Given the description of an element on the screen output the (x, y) to click on. 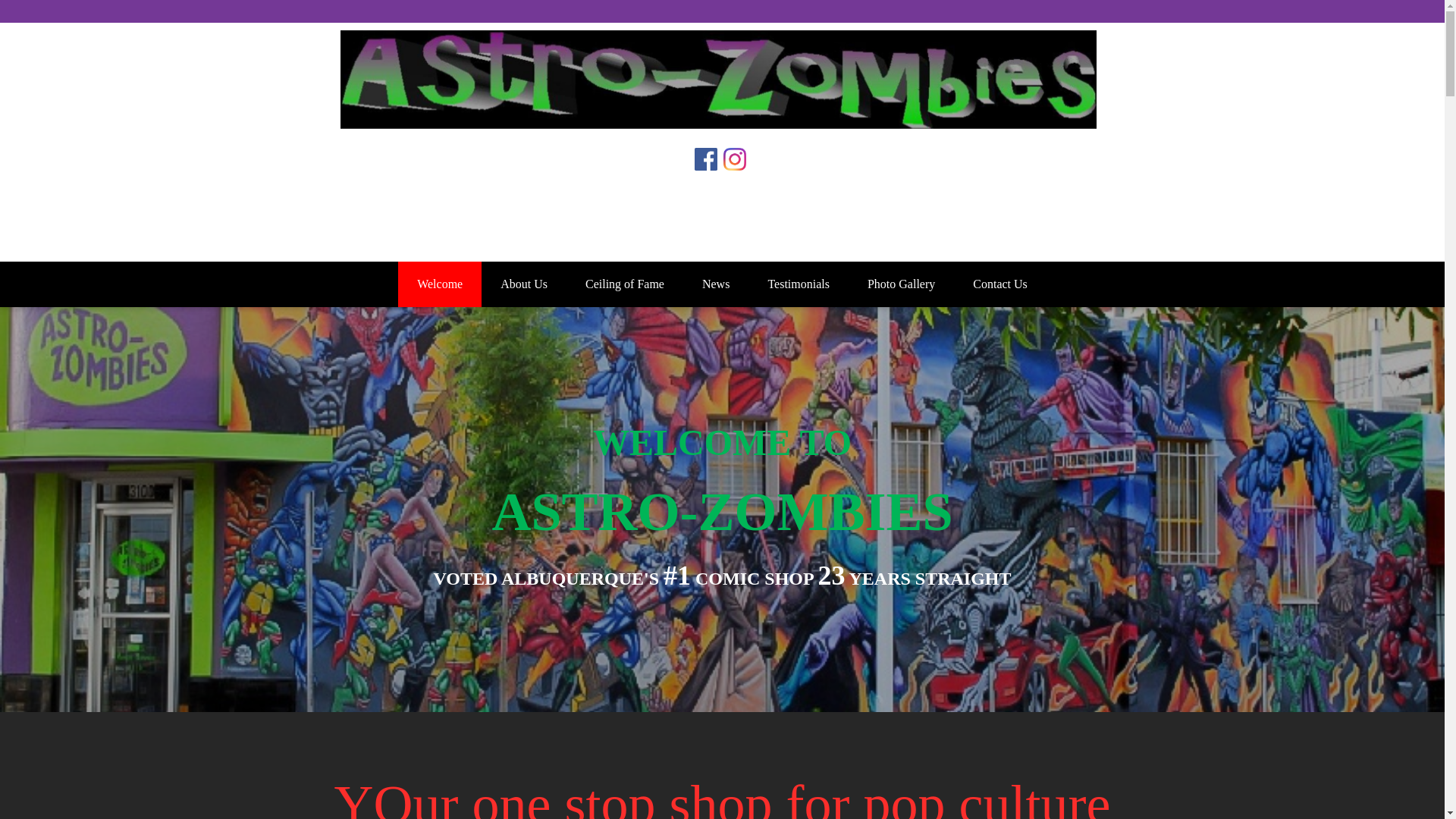
Testimonials (798, 284)
Facebook (708, 167)
1-505-232-7800 (721, 233)
Instagram (736, 167)
Photo Gallery (900, 284)
Ceiling of Fame (624, 284)
Welcome (439, 284)
News (715, 284)
Contact Us (999, 284)
About Us (523, 284)
